Given the description of an element on the screen output the (x, y) to click on. 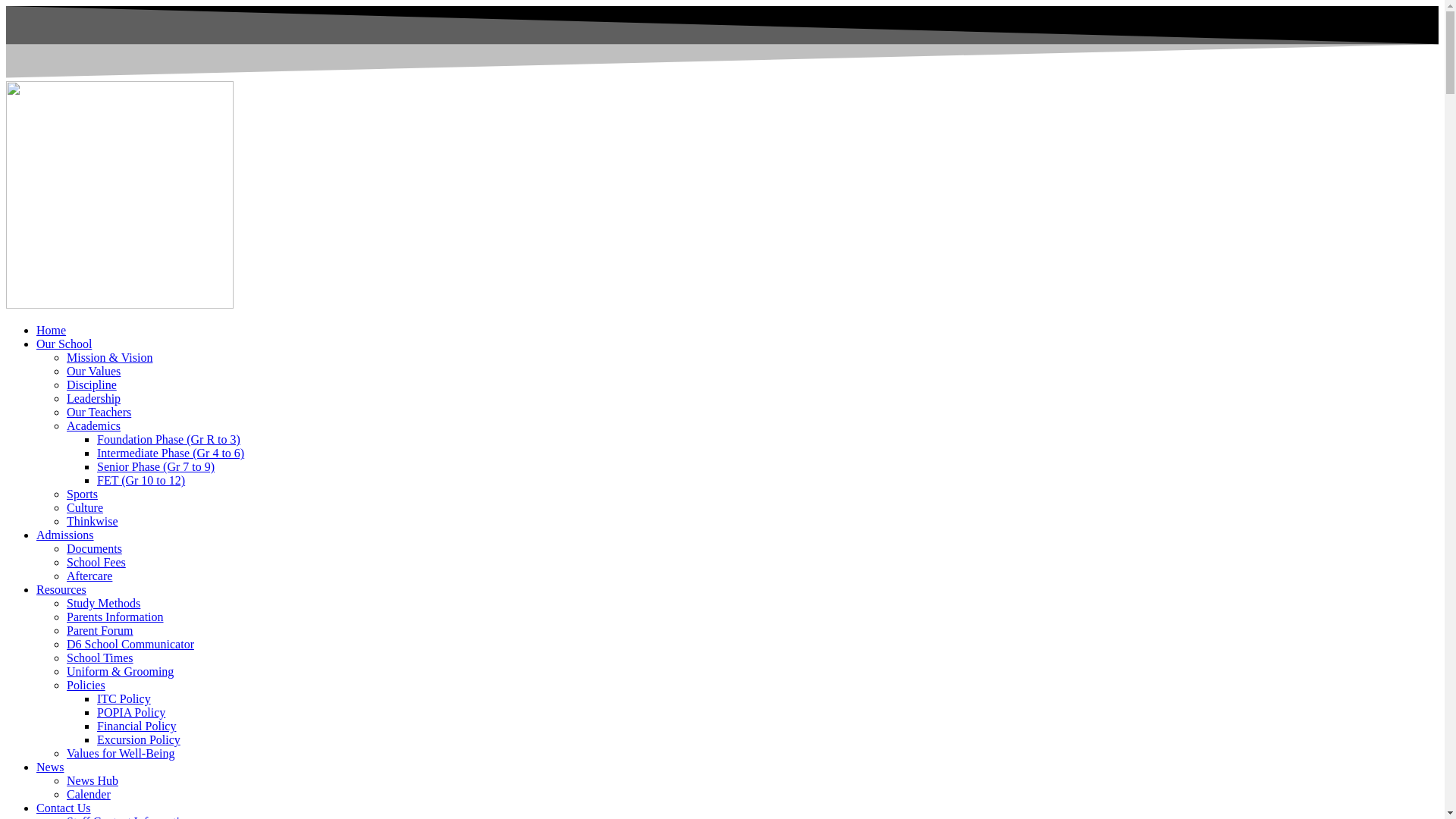
News (50, 766)
Financial Policy (136, 725)
News Hub (91, 780)
Policies (85, 684)
Values for Well-Being (120, 753)
Contact Us (63, 807)
Home (50, 329)
Our School (63, 343)
Our Values (93, 370)
Leadership (93, 398)
POPIA Policy (131, 712)
Parents Information (114, 616)
Aftercare (89, 575)
Calender (88, 793)
Academics (93, 425)
